Given the description of an element on the screen output the (x, y) to click on. 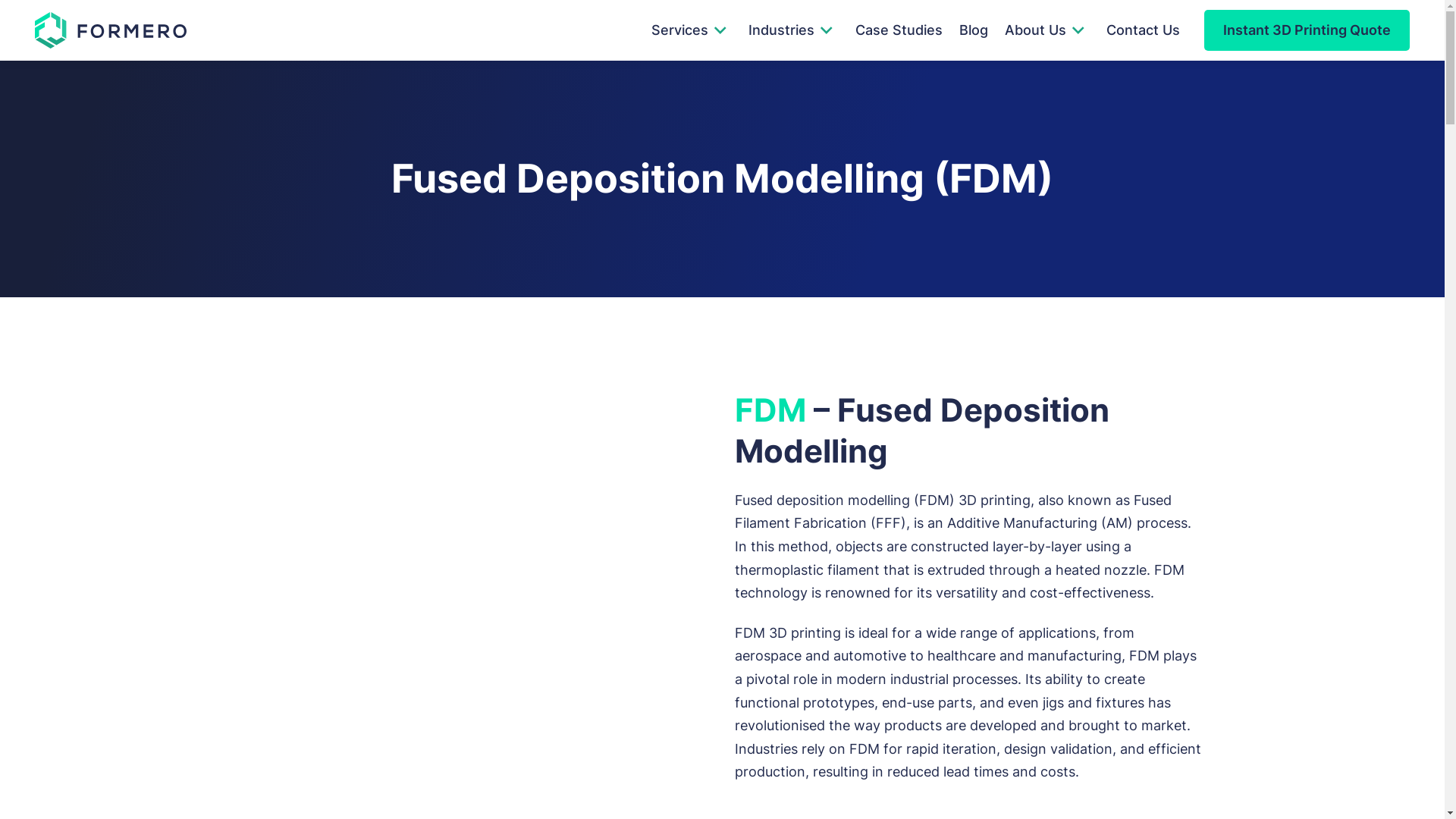
Instant 3D Printing Quote Element type: text (1306, 29)
Case Studies Element type: text (898, 29)
Blog Element type: text (972, 29)
Services Element type: text (678, 29)
About Us Element type: text (1034, 29)
Contact Us Element type: text (1142, 29)
YouTube video player Element type: hover (434, 583)
Industries Element type: text (781, 29)
Skip to main content Element type: text (34, 94)
